Given the description of an element on the screen output the (x, y) to click on. 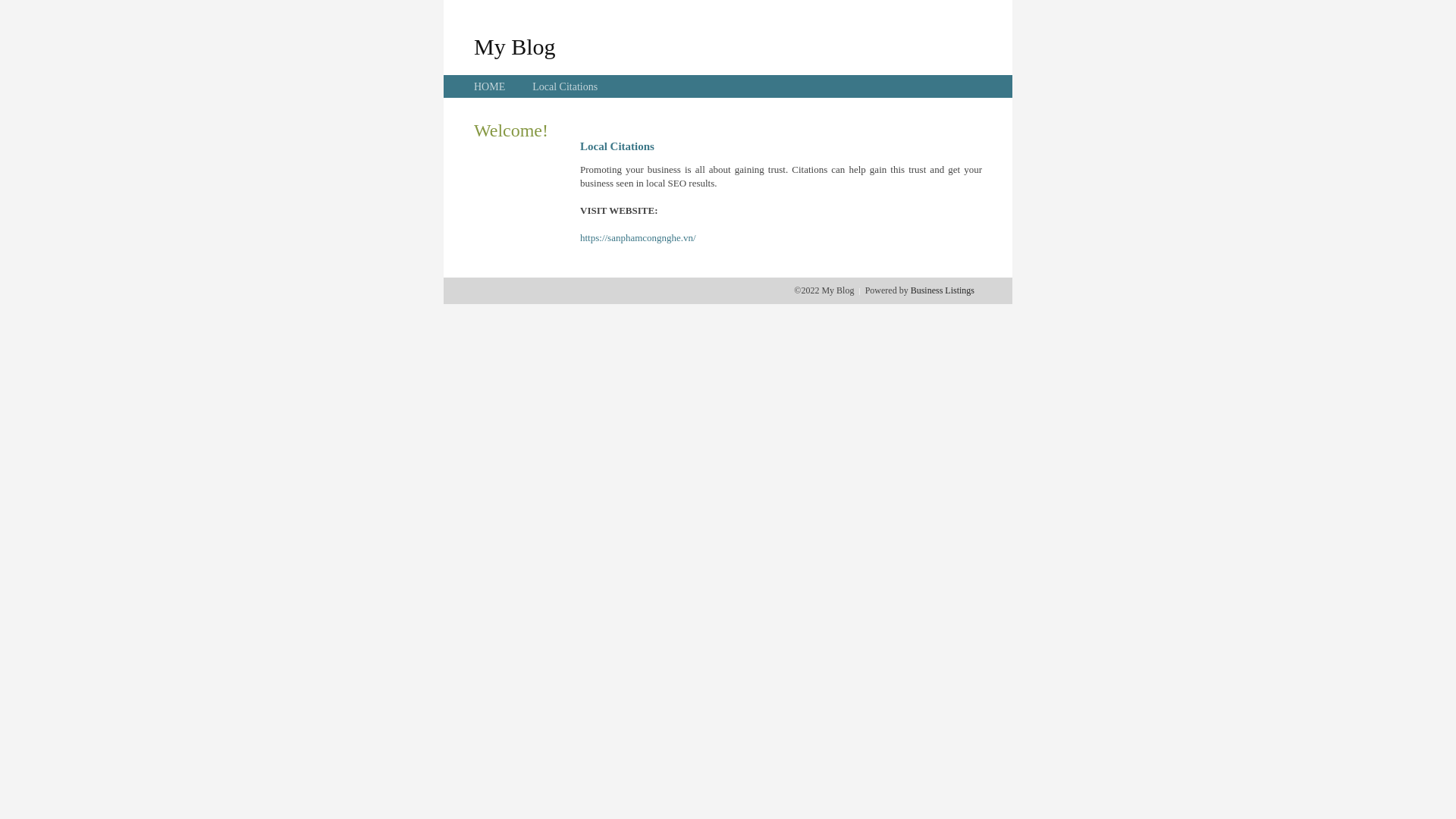
Local Citations Element type: text (564, 86)
My Blog Element type: text (514, 46)
https://sanphamcongnghe.vn/ Element type: text (638, 237)
HOME Element type: text (489, 86)
Business Listings Element type: text (942, 290)
